Given the description of an element on the screen output the (x, y) to click on. 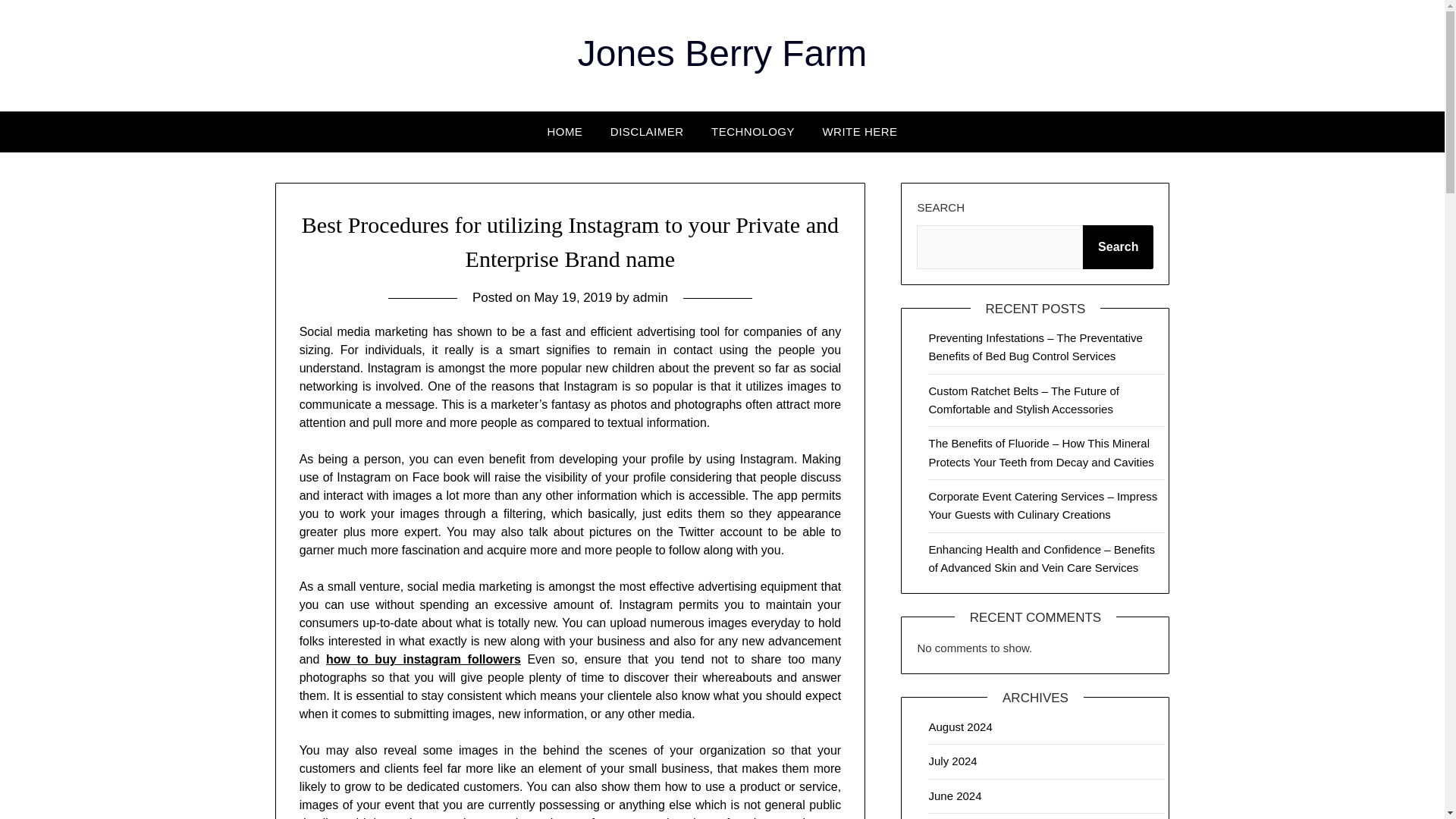
Search (1118, 247)
admin (650, 297)
HOME (564, 131)
WRITE HERE (858, 131)
June 2024 (954, 795)
TECHNOLOGY (752, 131)
August 2024 (959, 726)
how to buy instagram followers (423, 658)
May 19, 2019 (572, 297)
Jones Berry Farm (722, 53)
